Given the description of an element on the screen output the (x, y) to click on. 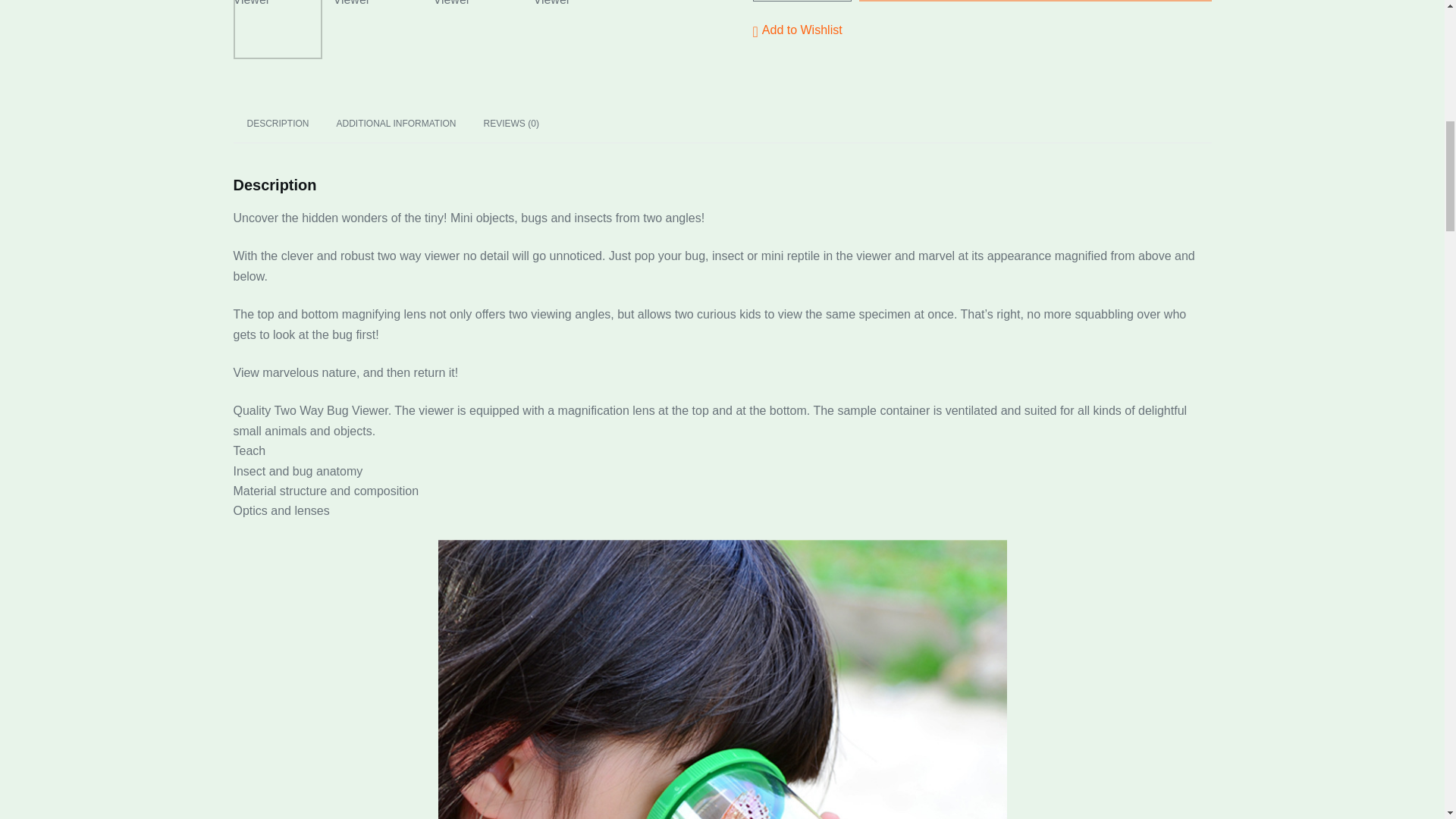
KeTan - Bug Viewer - Media 01 (377, 29)
KeTan - Bug Viewer - Media 03 (578, 29)
KeTan - Bug Viewer - Media 02 (477, 29)
KeTan - Bug Viewer - Media 04 (276, 29)
